Given the description of an element on the screen output the (x, y) to click on. 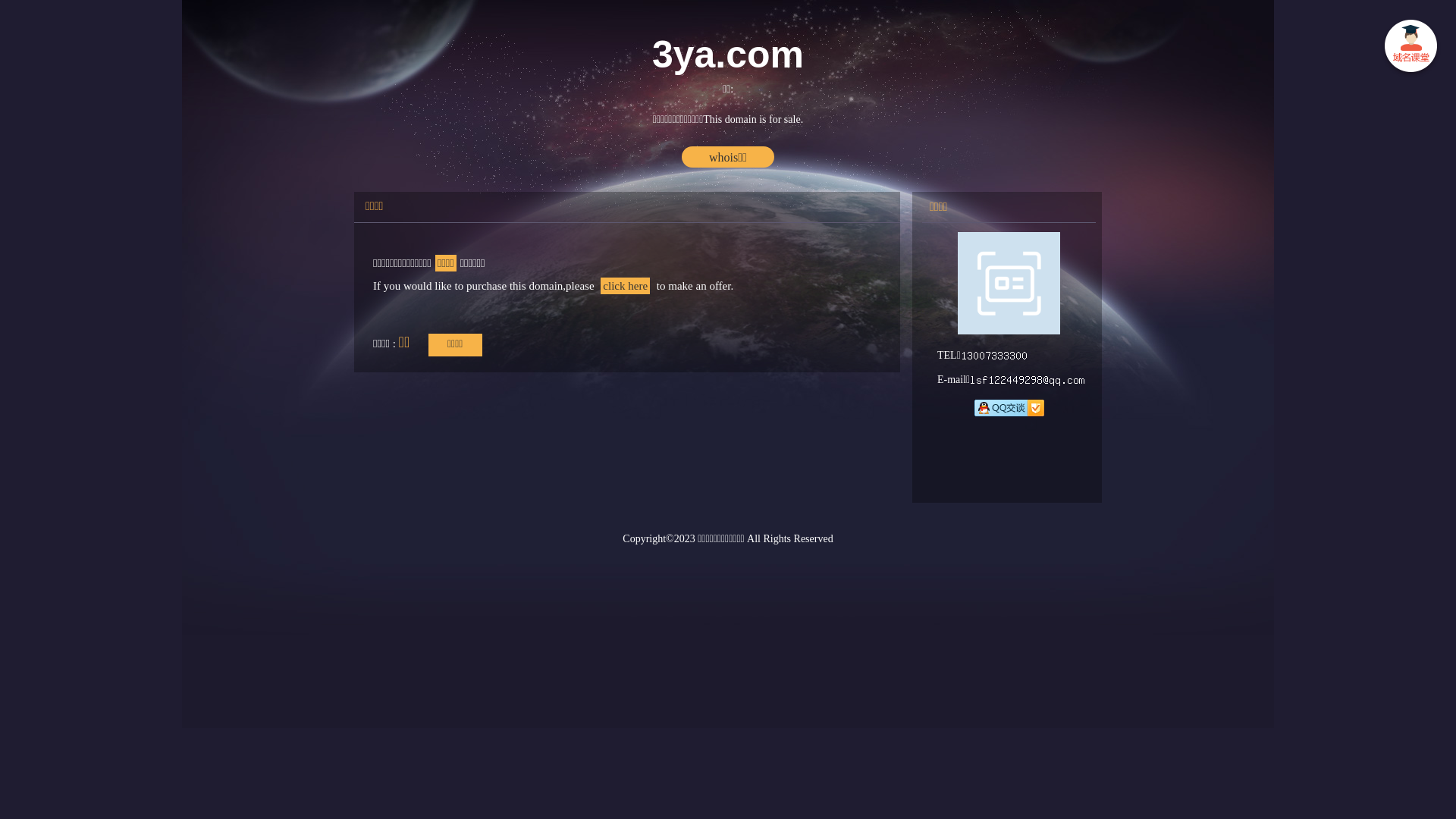
  Element type: text (1410, 48)
click here Element type: text (624, 285)
